Given the description of an element on the screen output the (x, y) to click on. 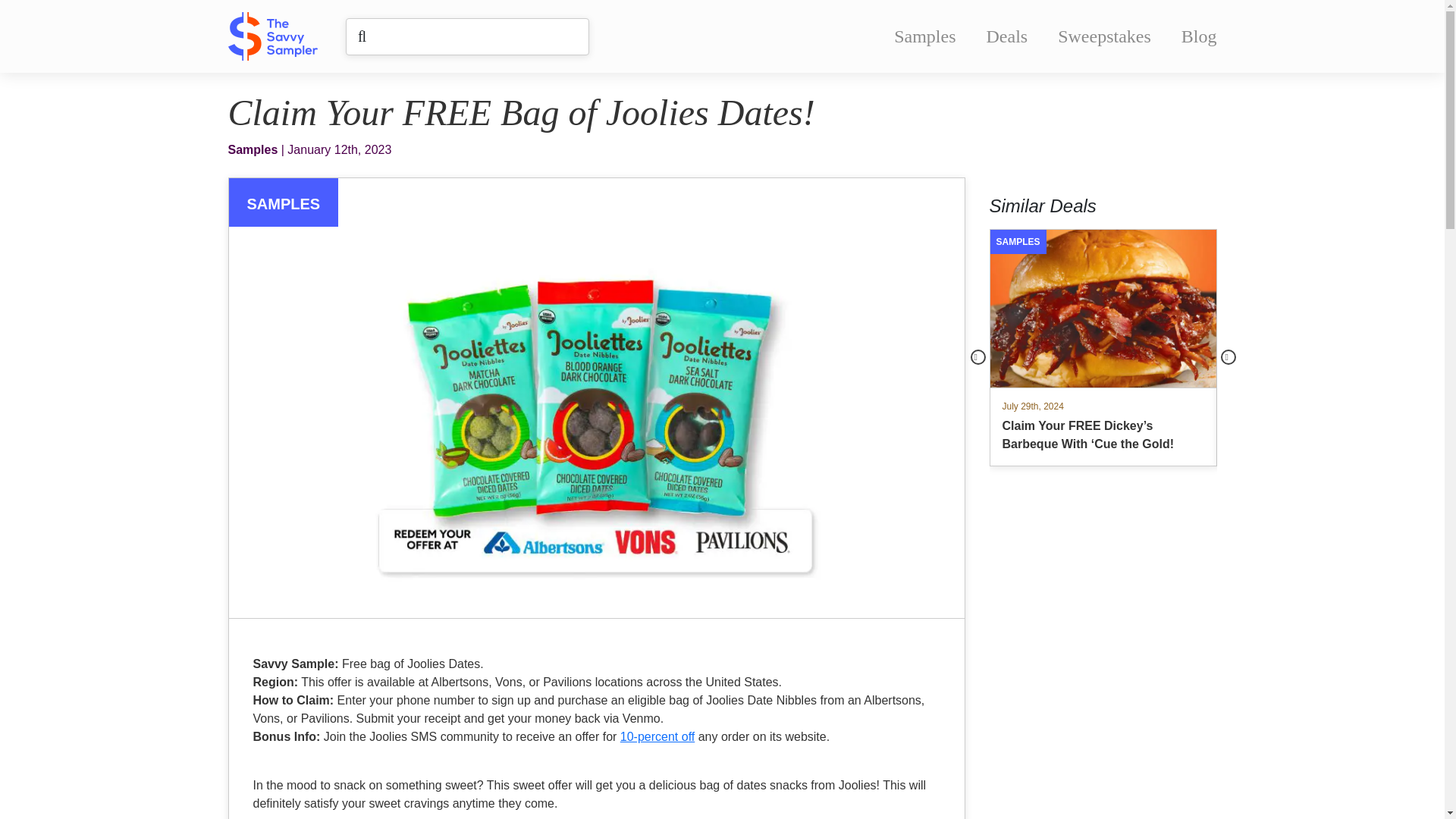
10-percent off (657, 736)
Sweepstakes (1104, 35)
Deals (1007, 35)
Blog (1198, 35)
Previous (978, 356)
Samples (924, 35)
